Given the description of an element on the screen output the (x, y) to click on. 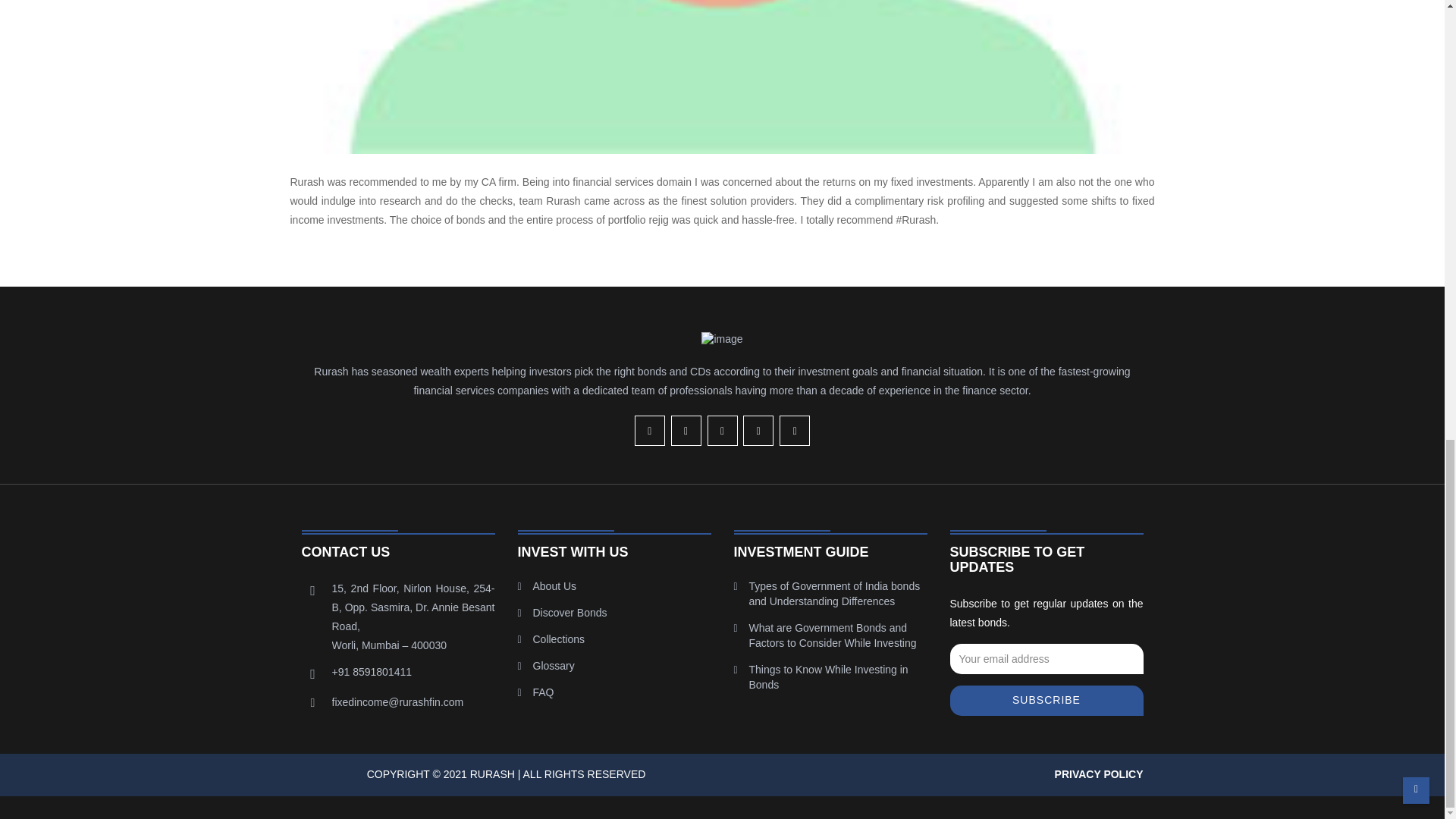
FAQ (542, 692)
Glossary (552, 665)
Subscribe (1045, 700)
Subscribe (1045, 700)
Things to Know While Investing in Bonds (828, 677)
About Us (554, 585)
Collections (557, 639)
PRIVACY POLICY (1098, 774)
Discover Bonds (569, 612)
